Given the description of an element on the screen output the (x, y) to click on. 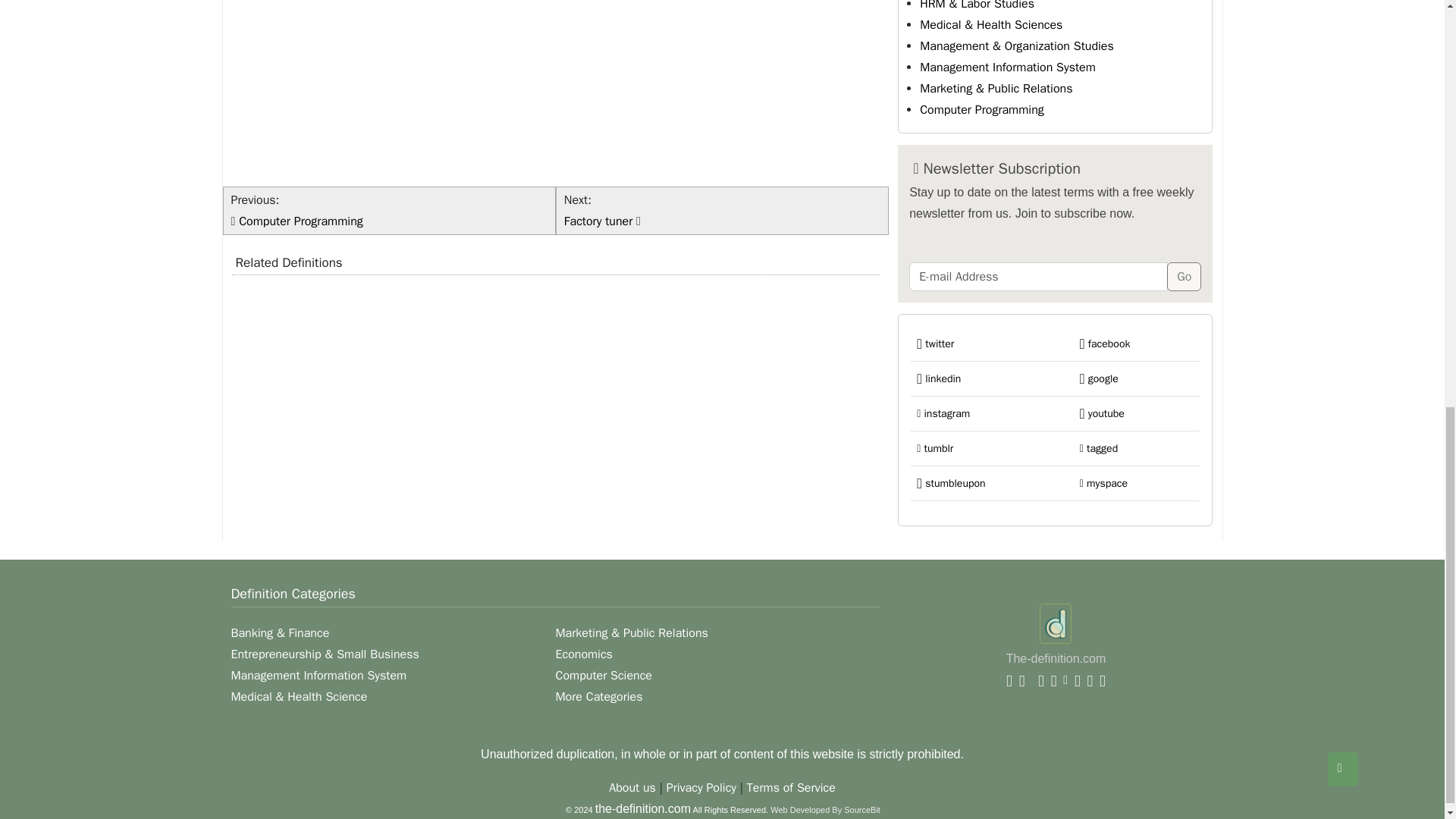
Computer Programming (300, 221)
Management Information System (1008, 67)
twitter (935, 343)
Management Information System (1008, 67)
Go (1184, 276)
Go (1184, 276)
Advertisement (555, 89)
Computer Programming (981, 109)
Factory tuner (600, 221)
facebook (1105, 343)
